Given the description of an element on the screen output the (x, y) to click on. 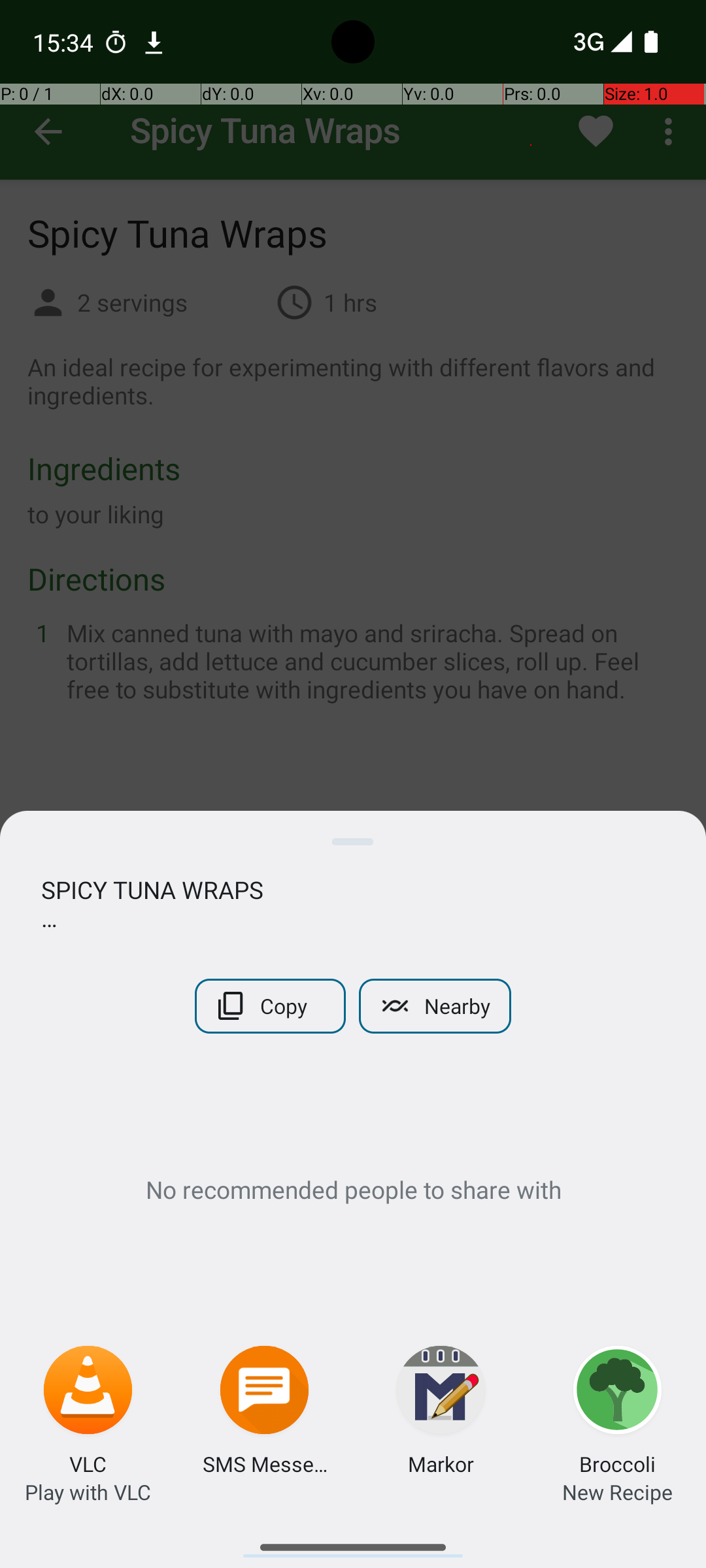
SPICY TUNA WRAPS

Servings: 2 servings
Time: 1 hrs

An ideal recipe for experimenting with different flavors and ingredients.

Ingredients:
- to your liking

Directions:
1. Mix canned tuna with mayo and sriracha. Spread on tortillas, add lettuce and cucumber slices, roll up. Feel free to substitute with ingredients you have on hand.

Shared with https://play.google.com/store/apps/details?id=com.flauschcode.broccoli Element type: android.widget.TextView (352, 903)
